Given the description of an element on the screen output the (x, y) to click on. 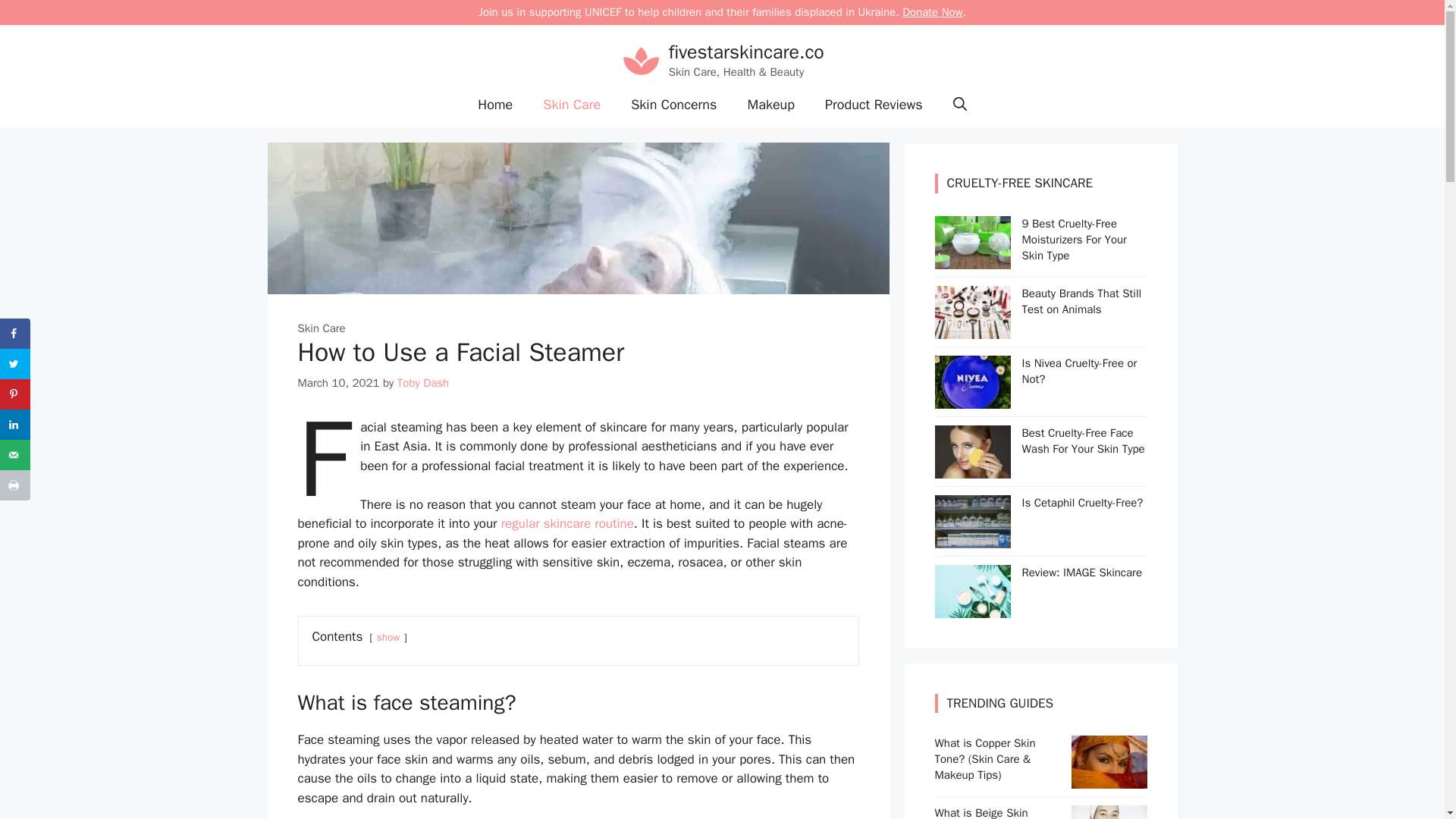
Product Reviews (873, 104)
Is Cetaphil Cruelty-Free? (972, 539)
Beauty Brands That Still Test on Animals (1081, 301)
Review: IMAGE Skincare (1082, 572)
9 Best Cruelty-Free Moisturizers For Your Skin Type (972, 259)
show (388, 636)
Skin Care (321, 327)
Best Cruelty-Free Face Wash For Your Skin Type (1083, 440)
View all posts by Toby Dash (422, 382)
Is Cetaphil Cruelty-Free? (1082, 502)
9 Best Cruelty-Free Moisturizers For Your Skin Type (1074, 239)
Skin Concerns (673, 104)
Is Nivea Cruelty-Free or Not? (1079, 370)
Home (495, 104)
Best Cruelty-Free Face Wash For Your Skin Type (972, 468)
